Given the description of an element on the screen output the (x, y) to click on. 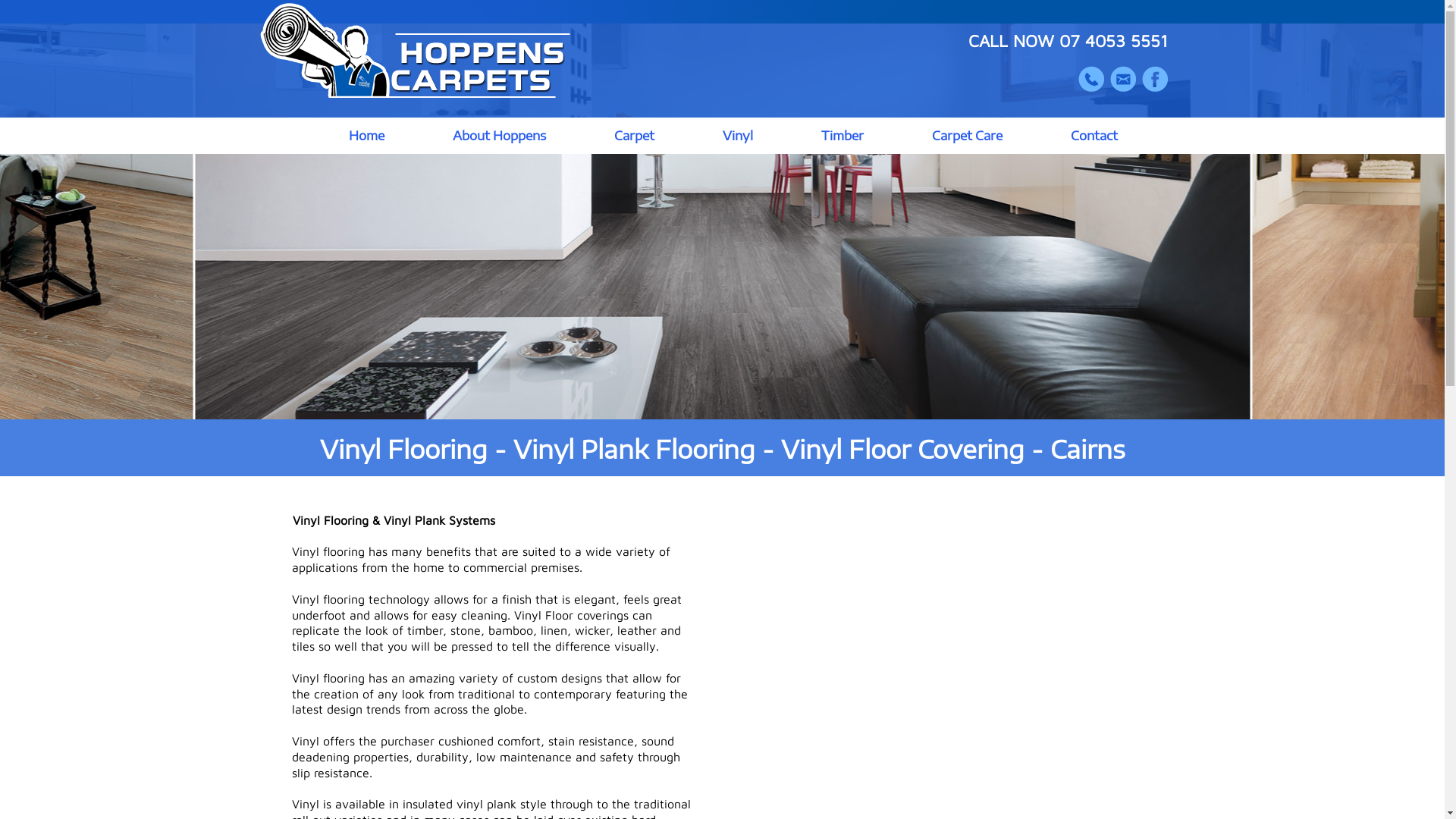
Contact Element type: text (1093, 135)
Home Element type: text (365, 135)
Carpet Care Element type: text (966, 135)
Timber Element type: text (842, 135)
Carpet Element type: text (633, 135)
About Hoppens Element type: text (499, 135)
07 4053 5551 Element type: text (1112, 40)
Vinyl Element type: text (737, 135)
